Given the description of an element on the screen output the (x, y) to click on. 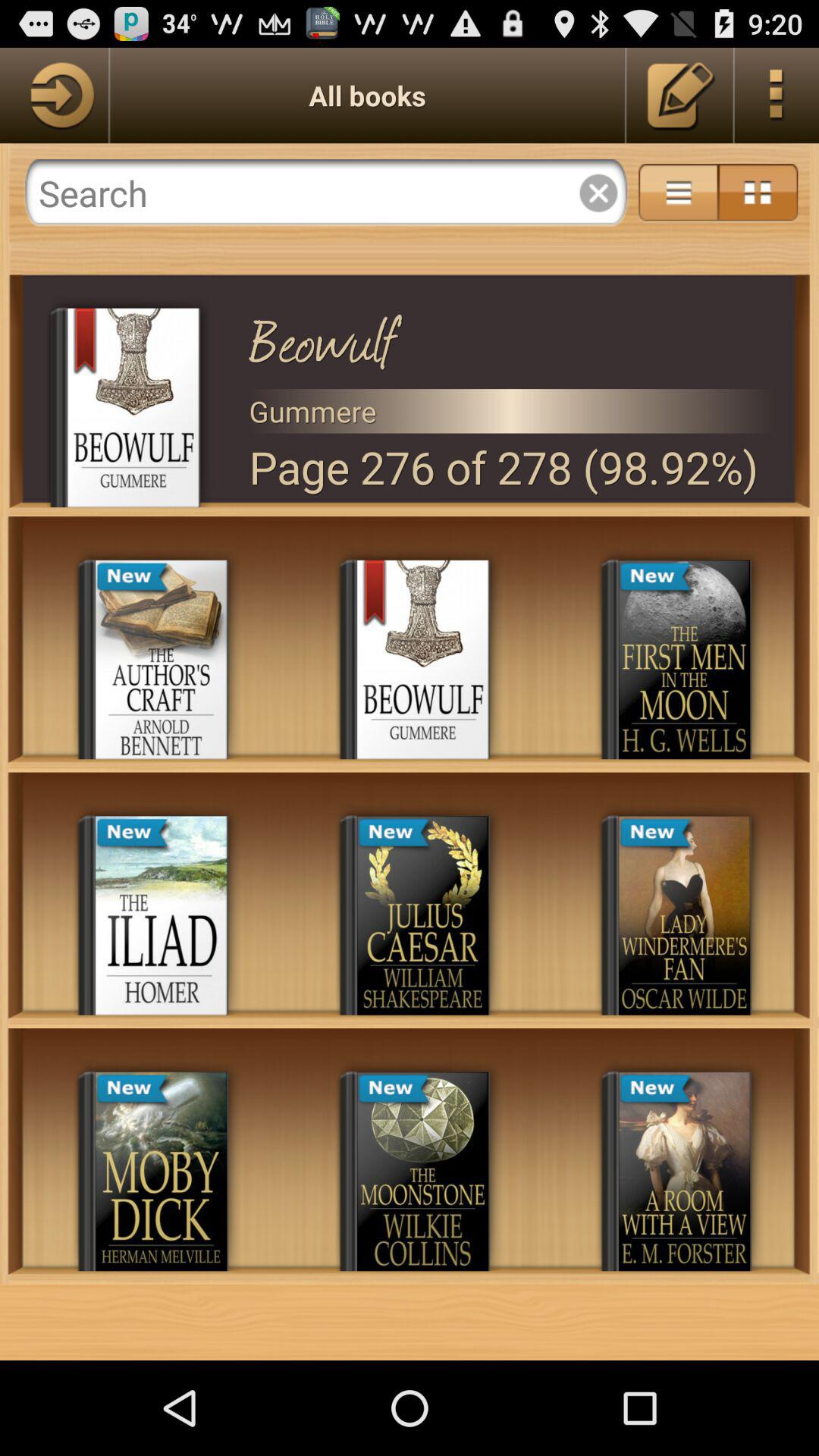
cancel or delete the search (598, 192)
